Given the description of an element on the screen output the (x, y) to click on. 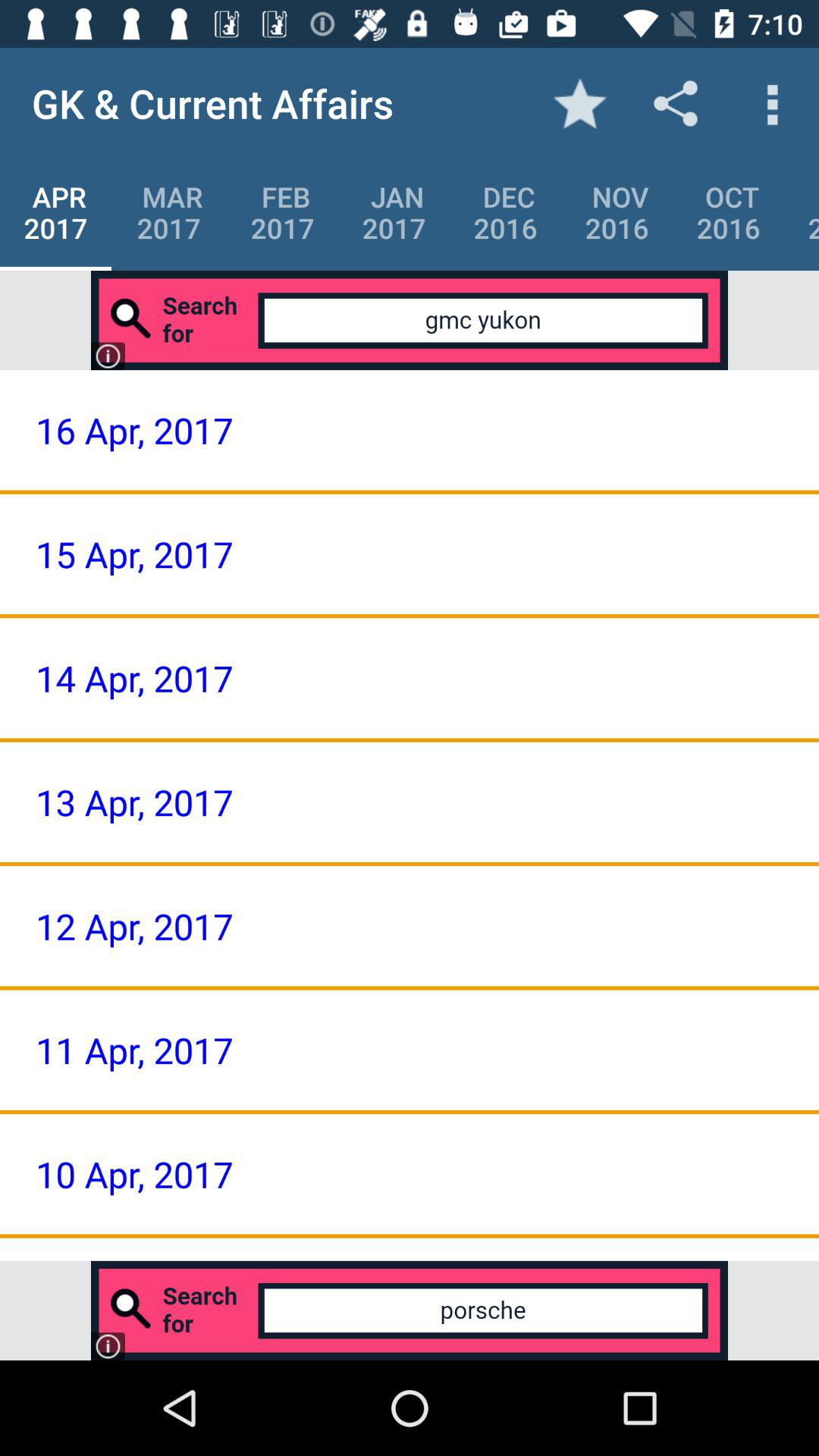
select icon to the left of the  oct
2016 item (616, 212)
